Given the description of an element on the screen output the (x, y) to click on. 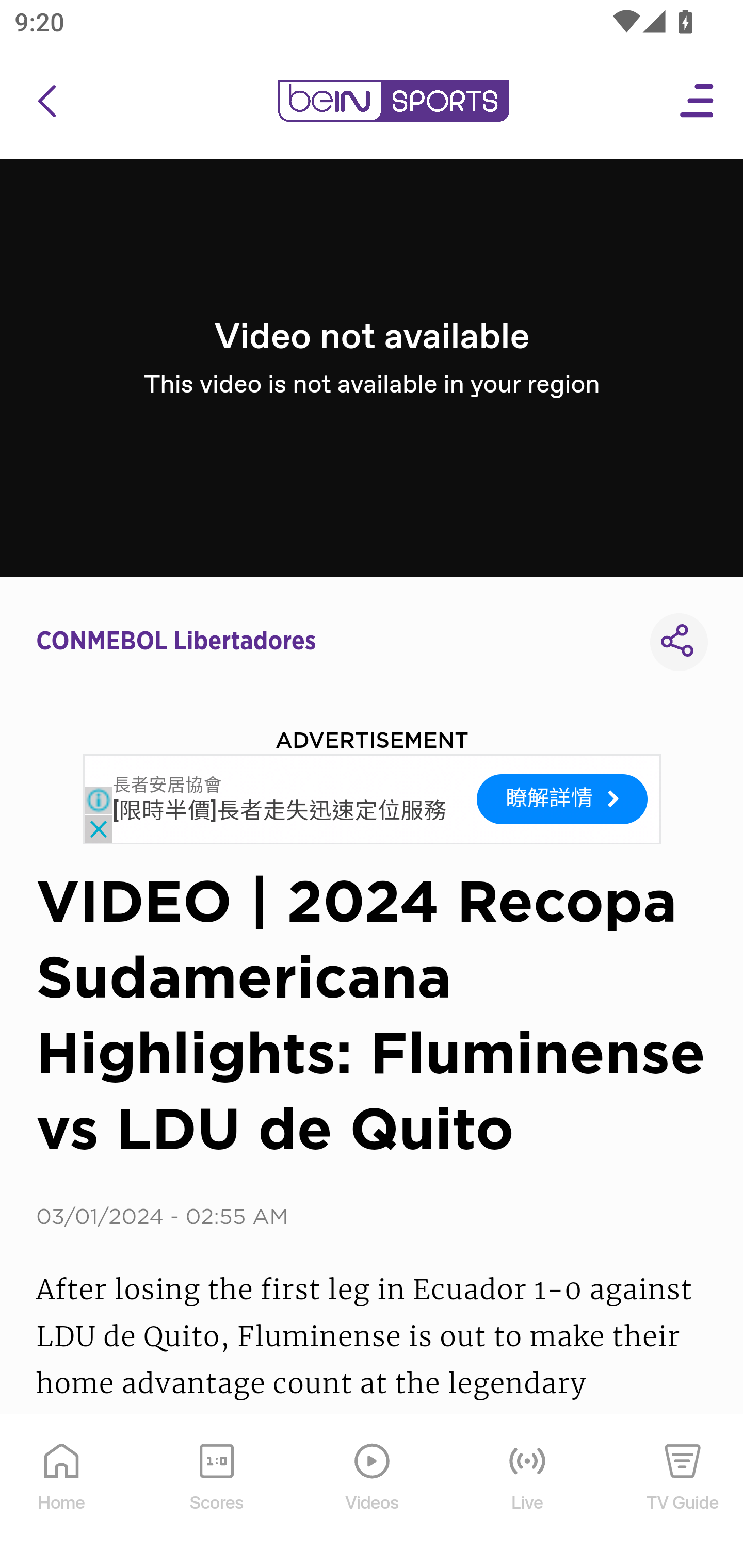
en-us?platform=mobile_android bein logo (392, 101)
icon back (46, 101)
Open Menu Icon (697, 101)
瞭解詳情 (562, 798)
長者安居協會 (167, 785)
[限時半價]長者走失迅速定位服務 (280, 810)
Home Home Icon Home (61, 1491)
Scores Scores Icon Scores (216, 1491)
Videos Videos Icon Videos (372, 1491)
TV Guide TV Guide Icon TV Guide (682, 1491)
